Given the description of an element on the screen output the (x, y) to click on. 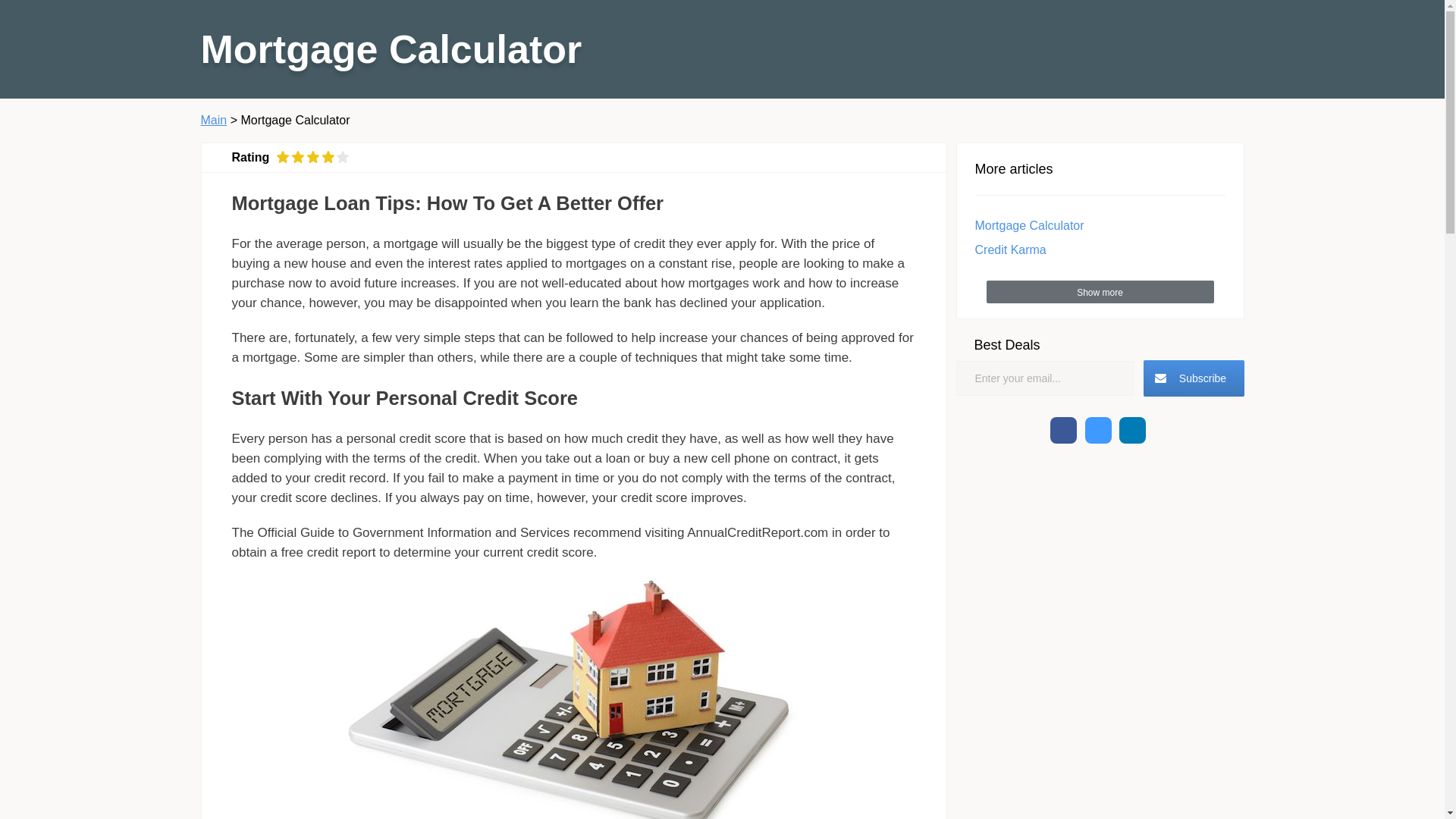
Mortgage Calculator (1029, 225)
Subscribe (1193, 378)
Show more (1098, 291)
Credit Karma (1010, 249)
Subscribe (1193, 378)
Main (213, 119)
